Given the description of an element on the screen output the (x, y) to click on. 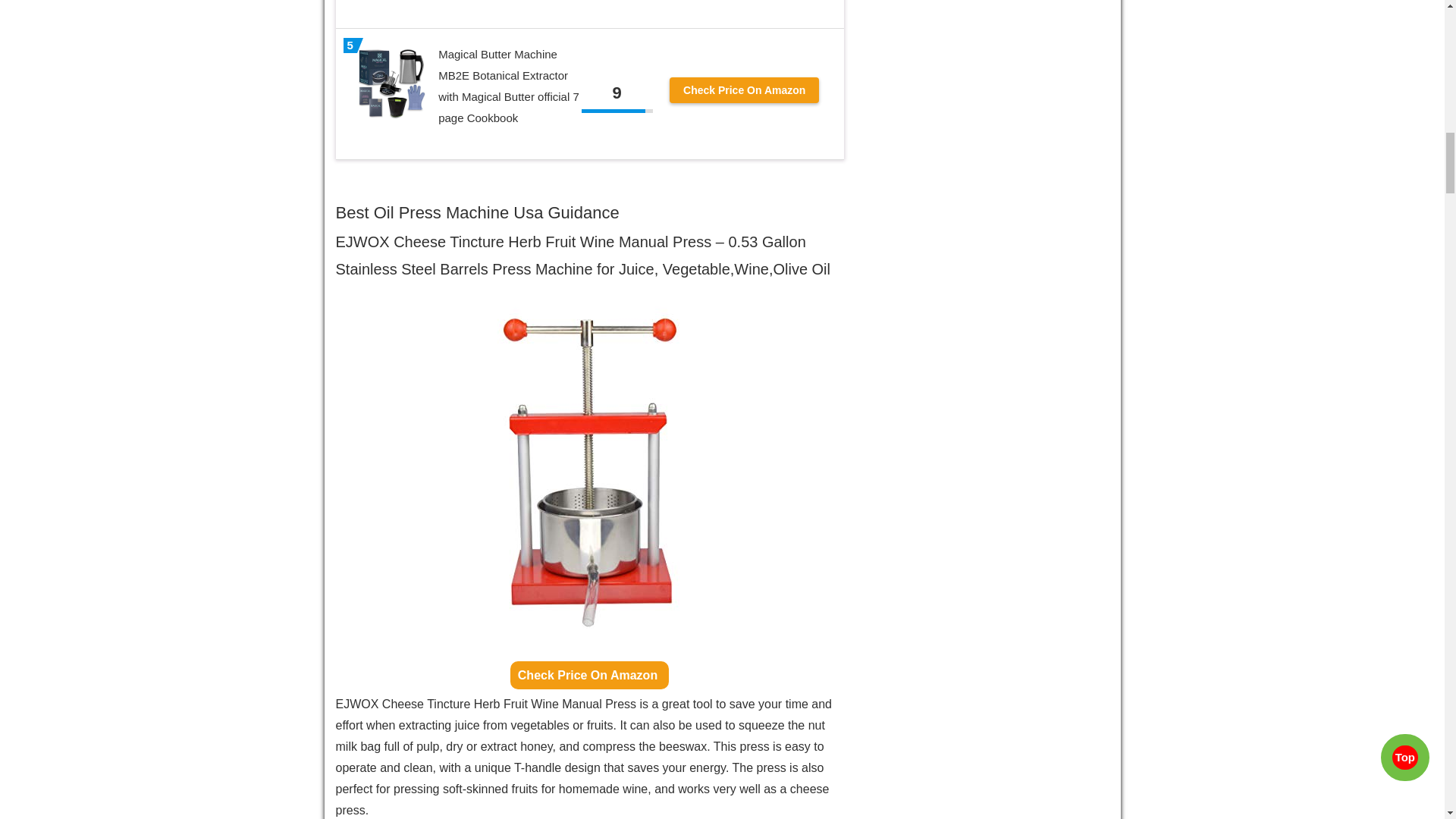
Check Price On Amazon (743, 89)
Check Price On Amazon (589, 674)
